Given the description of an element on the screen output the (x, y) to click on. 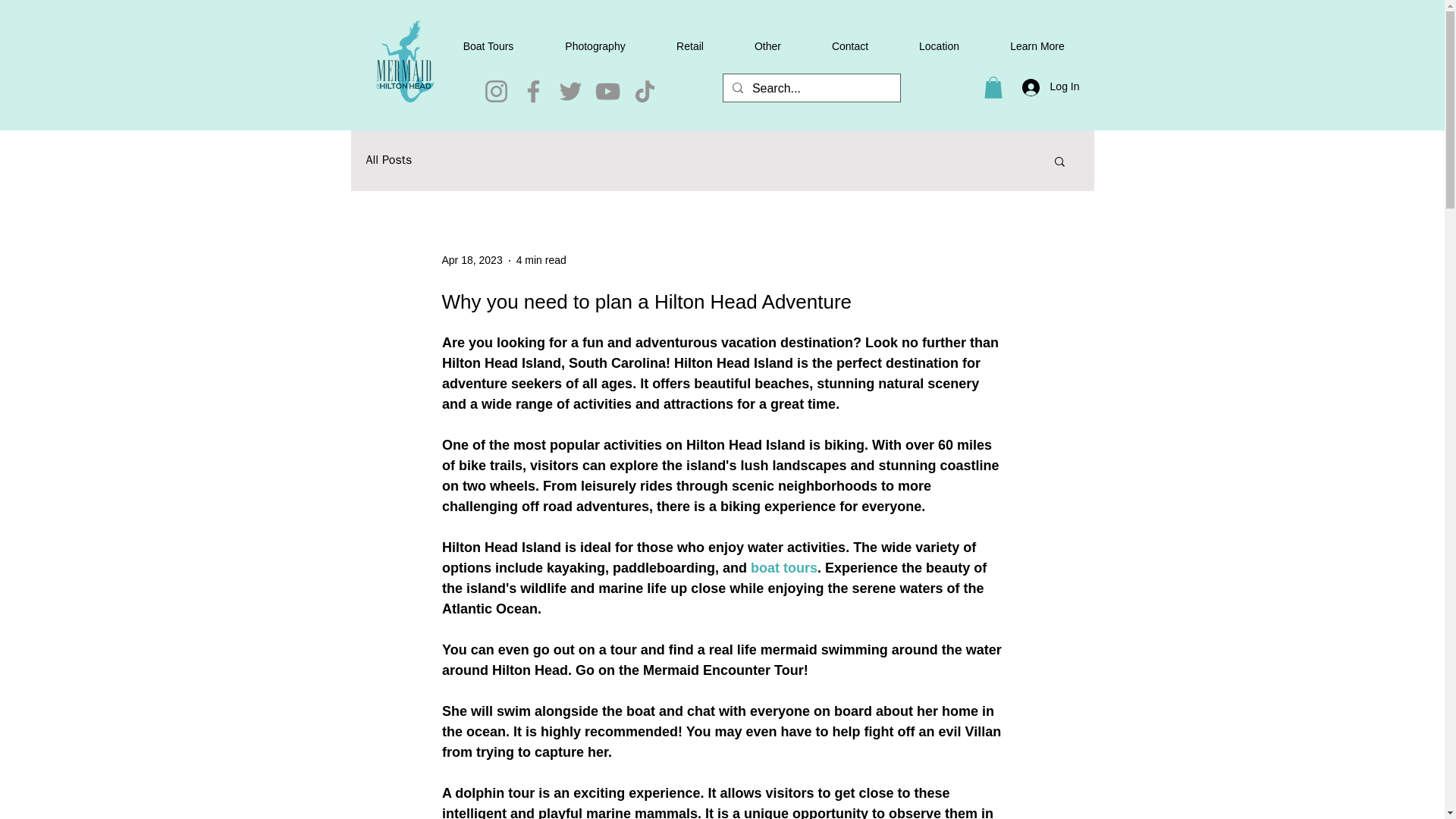
Location (938, 46)
Photography (595, 46)
Retail (689, 46)
Contact (849, 46)
Apr 18, 2023 (471, 259)
4 min read (541, 259)
Learn More (1036, 46)
Other (767, 46)
Boat Tours (487, 46)
